Given the description of an element on the screen output the (x, y) to click on. 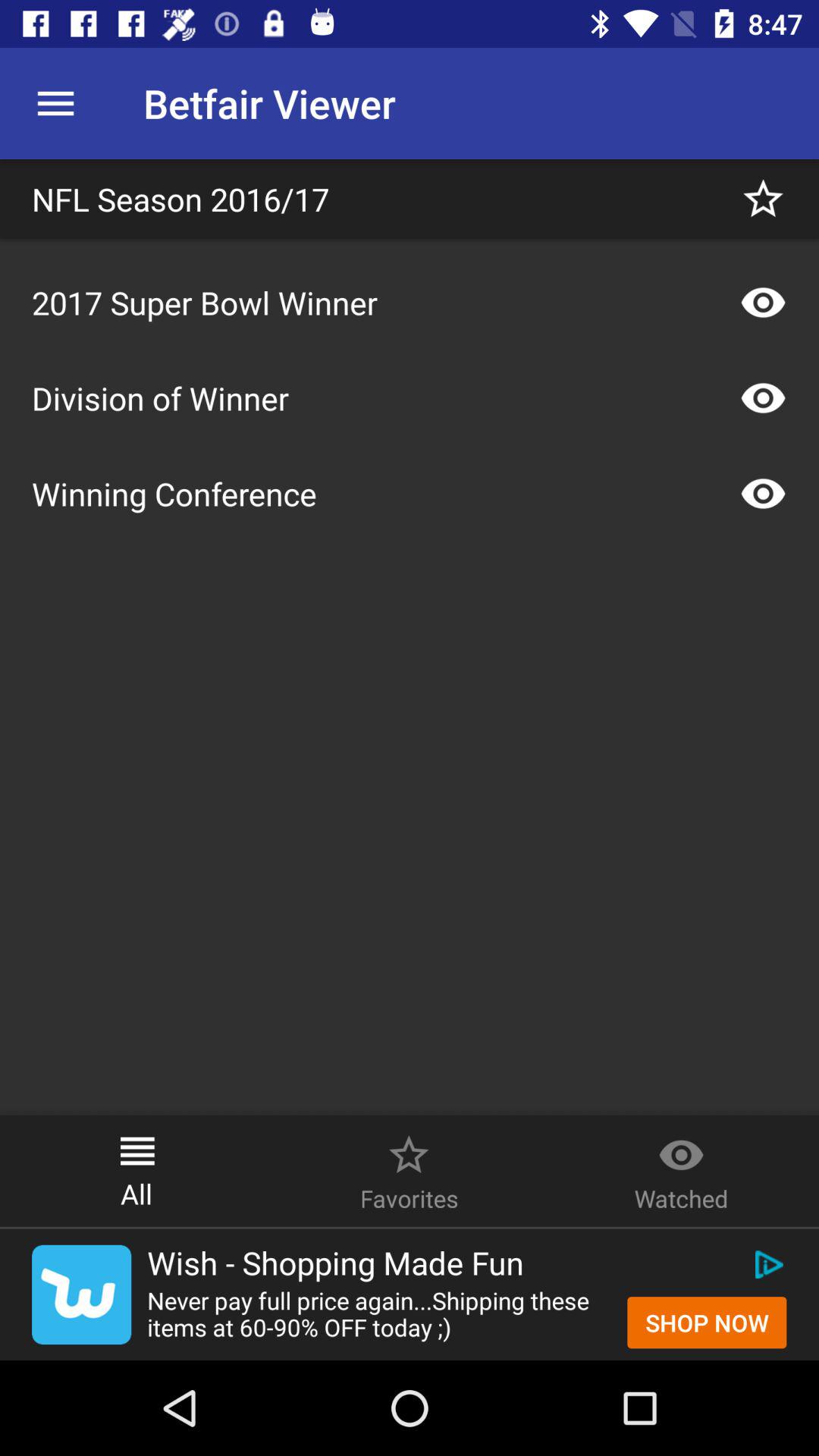
favorite this page (763, 198)
